Given the description of an element on the screen output the (x, y) to click on. 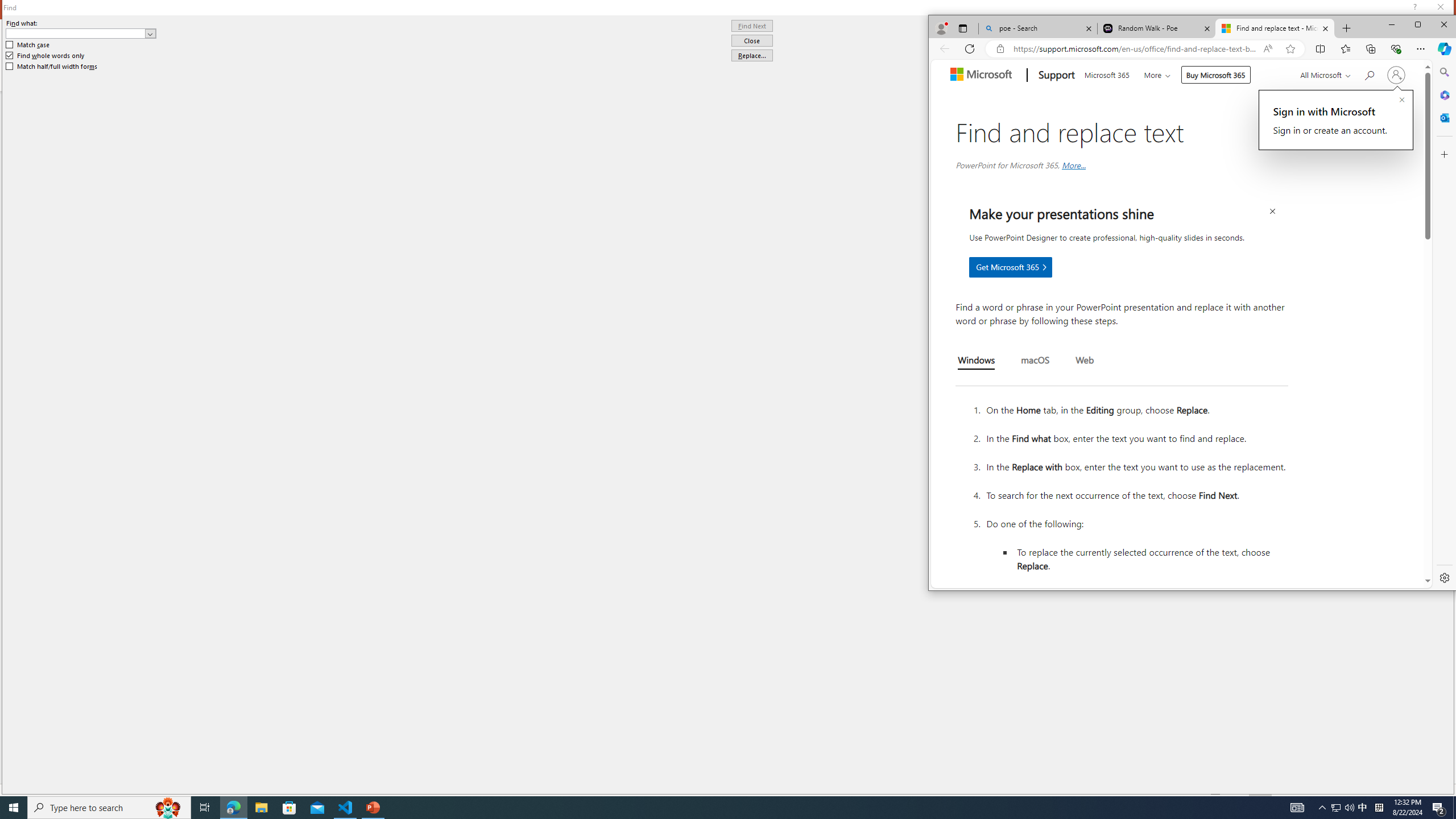
Refresh (969, 48)
Collections (1370, 48)
